Given the description of an element on the screen output the (x, y) to click on. 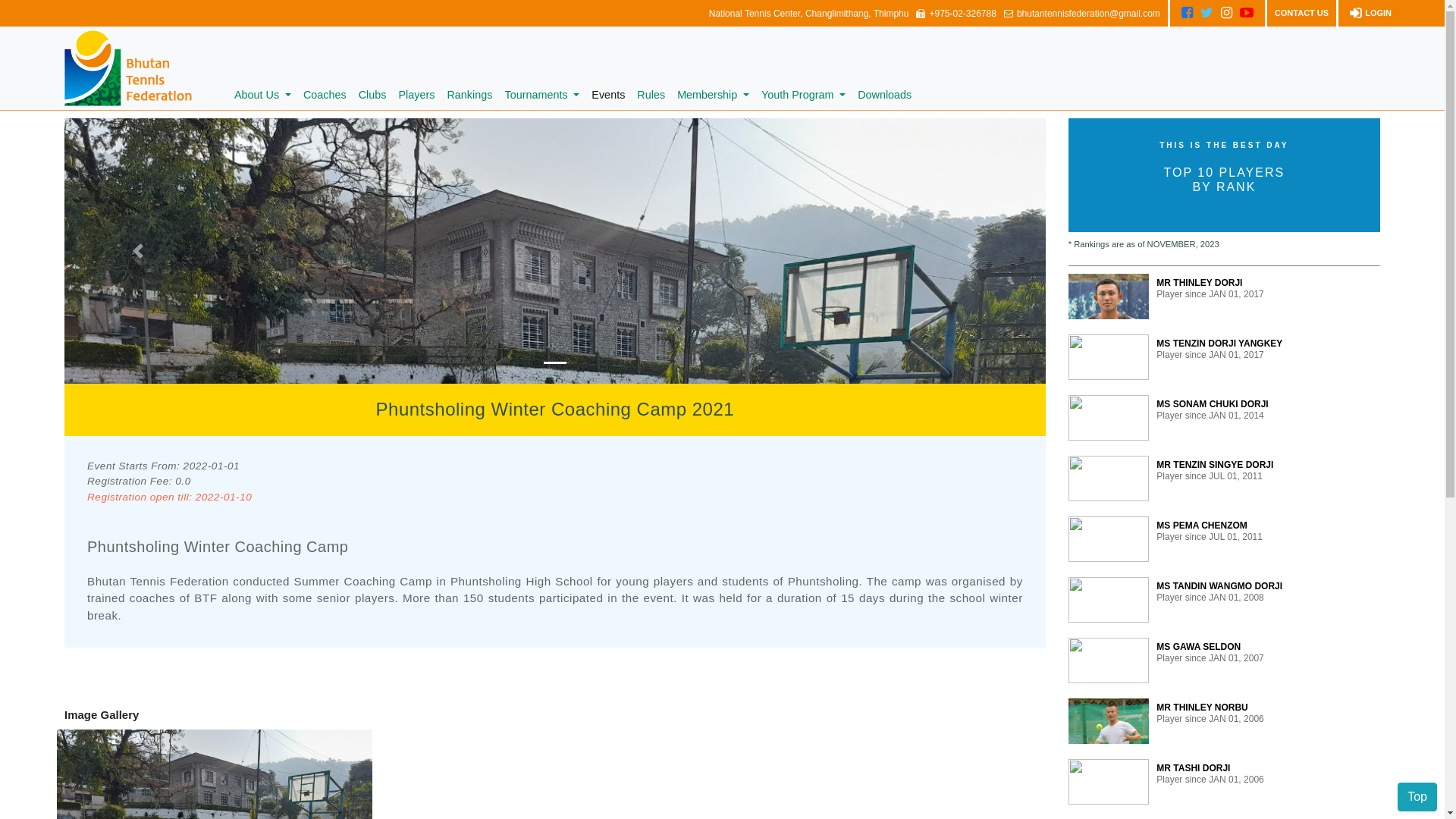
Clubs Element type: text (372, 95)
THIS IS THE BEST DAY
TOP 10 PLAYERS
BY RANK Element type: text (1224, 175)
Youth Program Element type: text (803, 95)
About Us Element type: text (262, 95)
MR TASHI DORJI Element type: text (1193, 767)
Membership Element type: text (713, 95)
MR THINLEY NORBU Element type: text (1201, 707)
Rules Element type: text (650, 95)
Events Element type: text (607, 95)
CONTACT US Element type: text (1301, 12)
Coaches Element type: text (324, 95)
LOGIN Element type: text (1368, 12)
MS TENZIN DORJI YANGKEY Element type: text (1219, 343)
MS GAWA SELDON Element type: text (1198, 646)
Rankings Element type: text (469, 95)
MR THINLEY DORJI Element type: text (1199, 282)
MS SONAM CHUKI DORJI Element type: text (1211, 403)
Downloads Element type: text (884, 95)
MS PEMA CHENZOM Element type: text (1201, 525)
Tournaments Element type: text (541, 95)
MS TANDIN WANGMO DORJI Element type: text (1219, 585)
Players Element type: text (416, 95)
MR TENZIN SINGYE DORJI Element type: text (1214, 464)
